Given the description of an element on the screen output the (x, y) to click on. 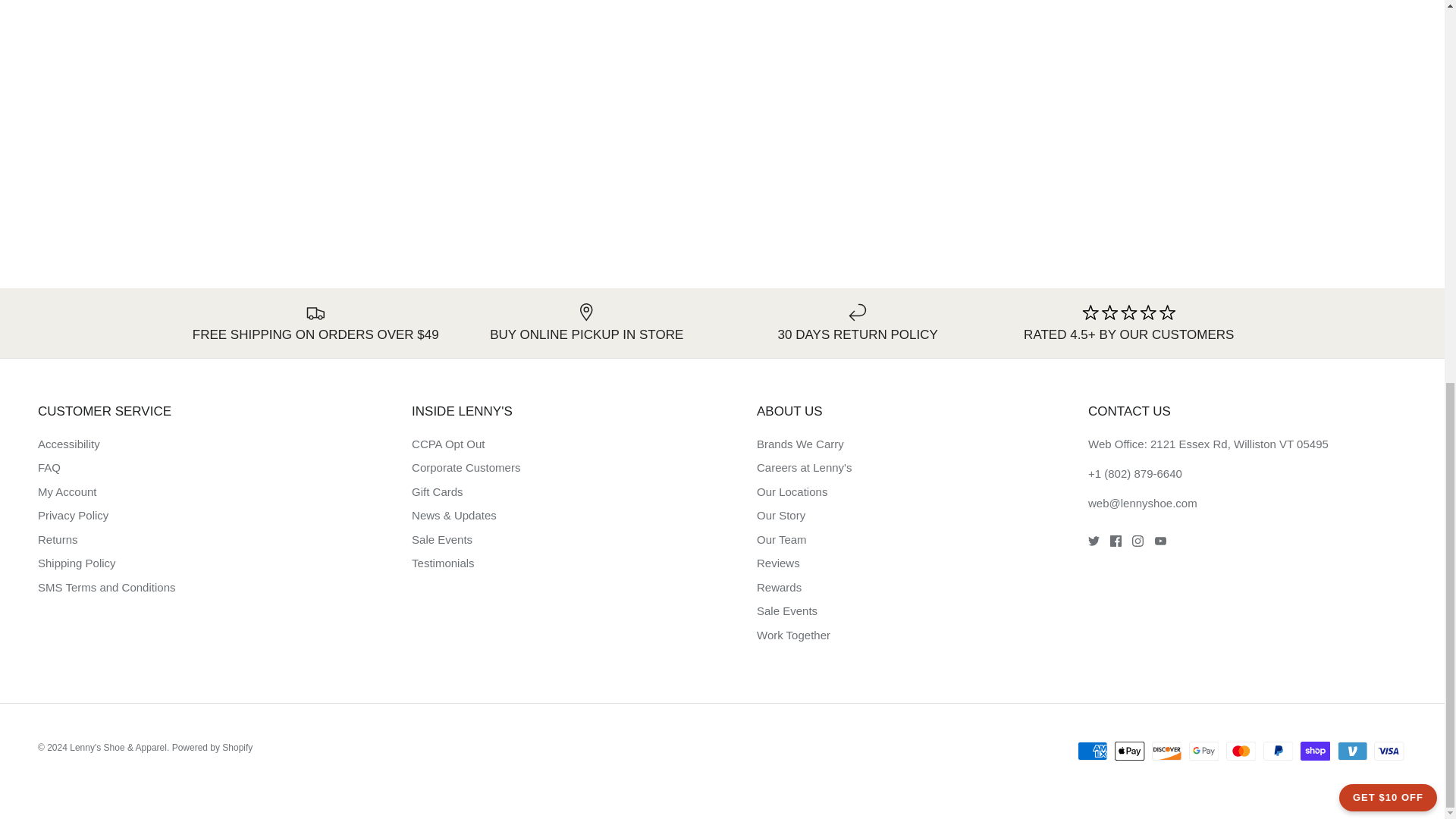
Discover (1166, 751)
PayPal (1277, 751)
Mastercard (1240, 751)
Visa (1388, 751)
Apple Pay (1129, 751)
Instagram (1137, 541)
Venmo (1352, 751)
Shop Pay (1315, 751)
Youtube (1160, 541)
Twitter (1093, 541)
